Given the description of an element on the screen output the (x, y) to click on. 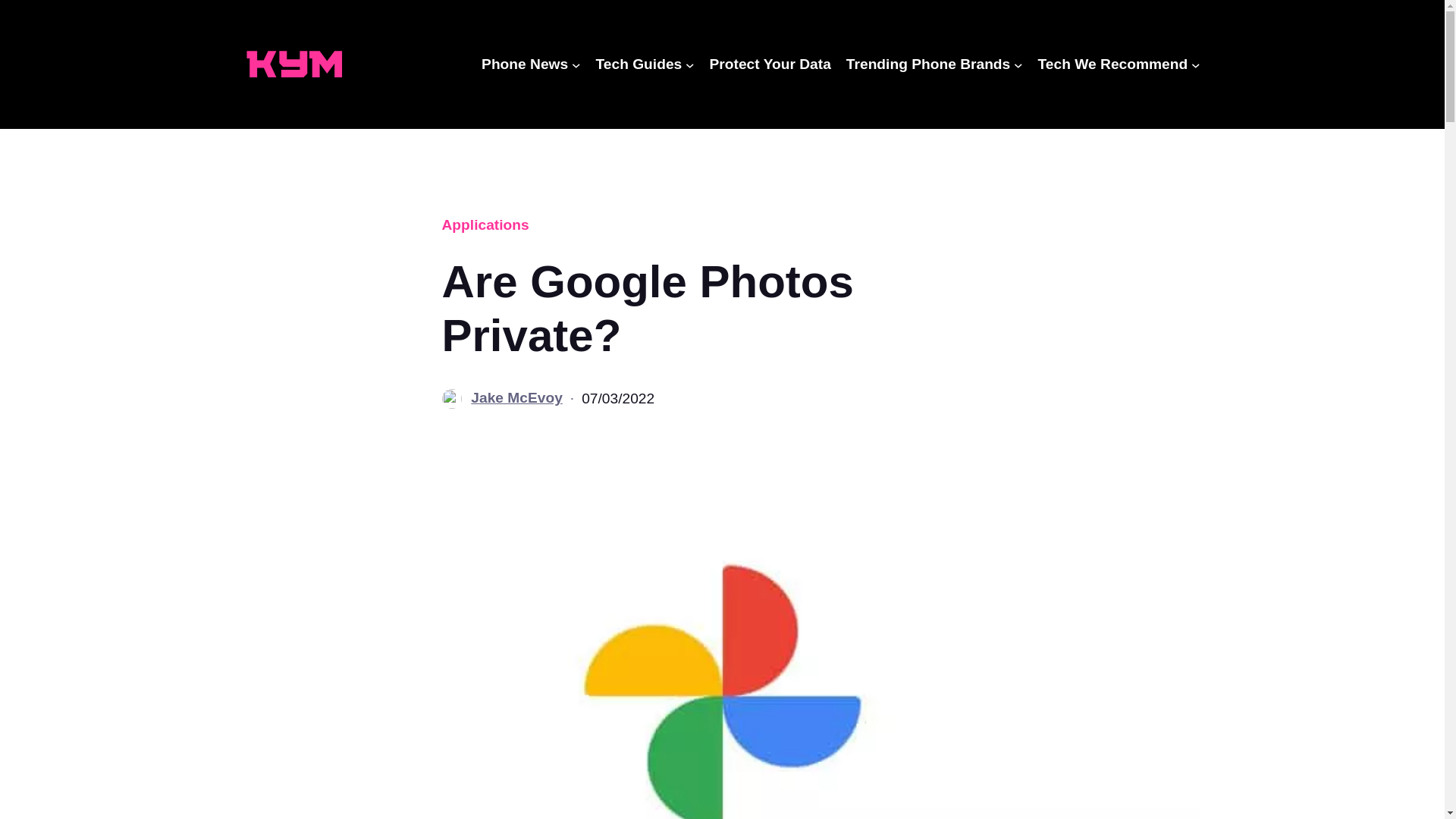
Applications (484, 224)
Protect Your Data (770, 64)
Tech We Recommend (1113, 64)
Jake McEvoy (516, 397)
Tech Guides (638, 64)
Phone News (524, 64)
Trending Phone Brands (927, 64)
